Given the description of an element on the screen output the (x, y) to click on. 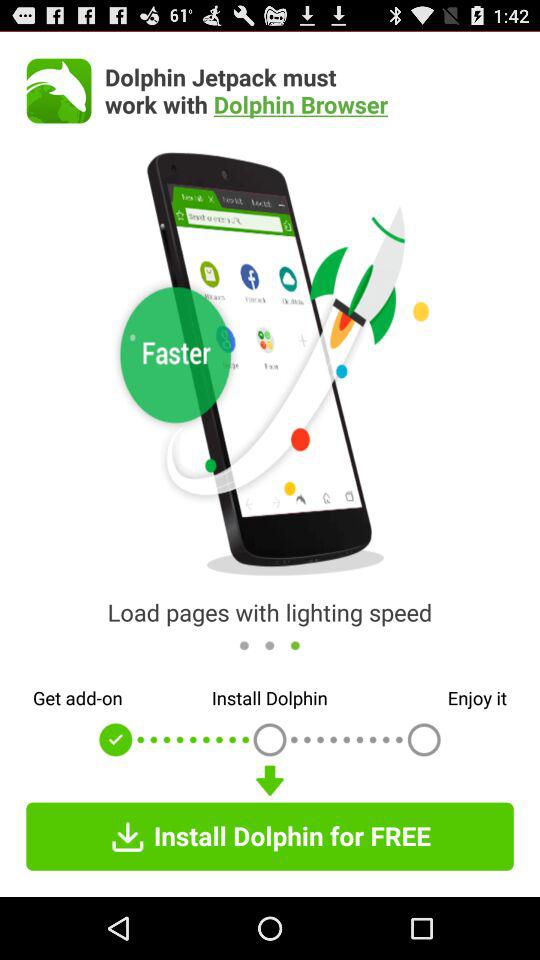
turn off the dolphin jetpack must item (309, 90)
